Given the description of an element on the screen output the (x, y) to click on. 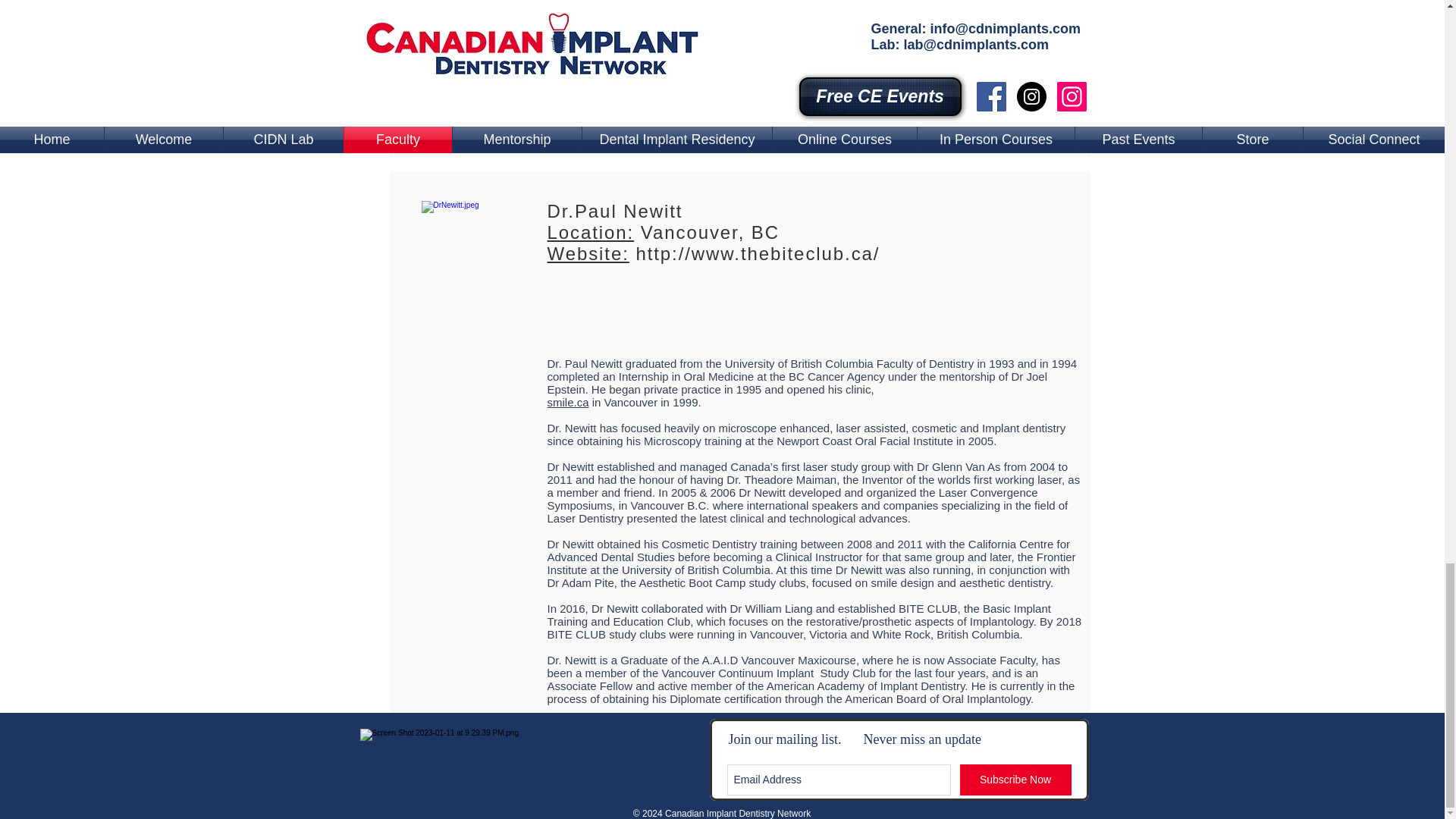
AGD PACE Canadian Implant Dentistry Network (531, 759)
